Given the description of an element on the screen output the (x, y) to click on. 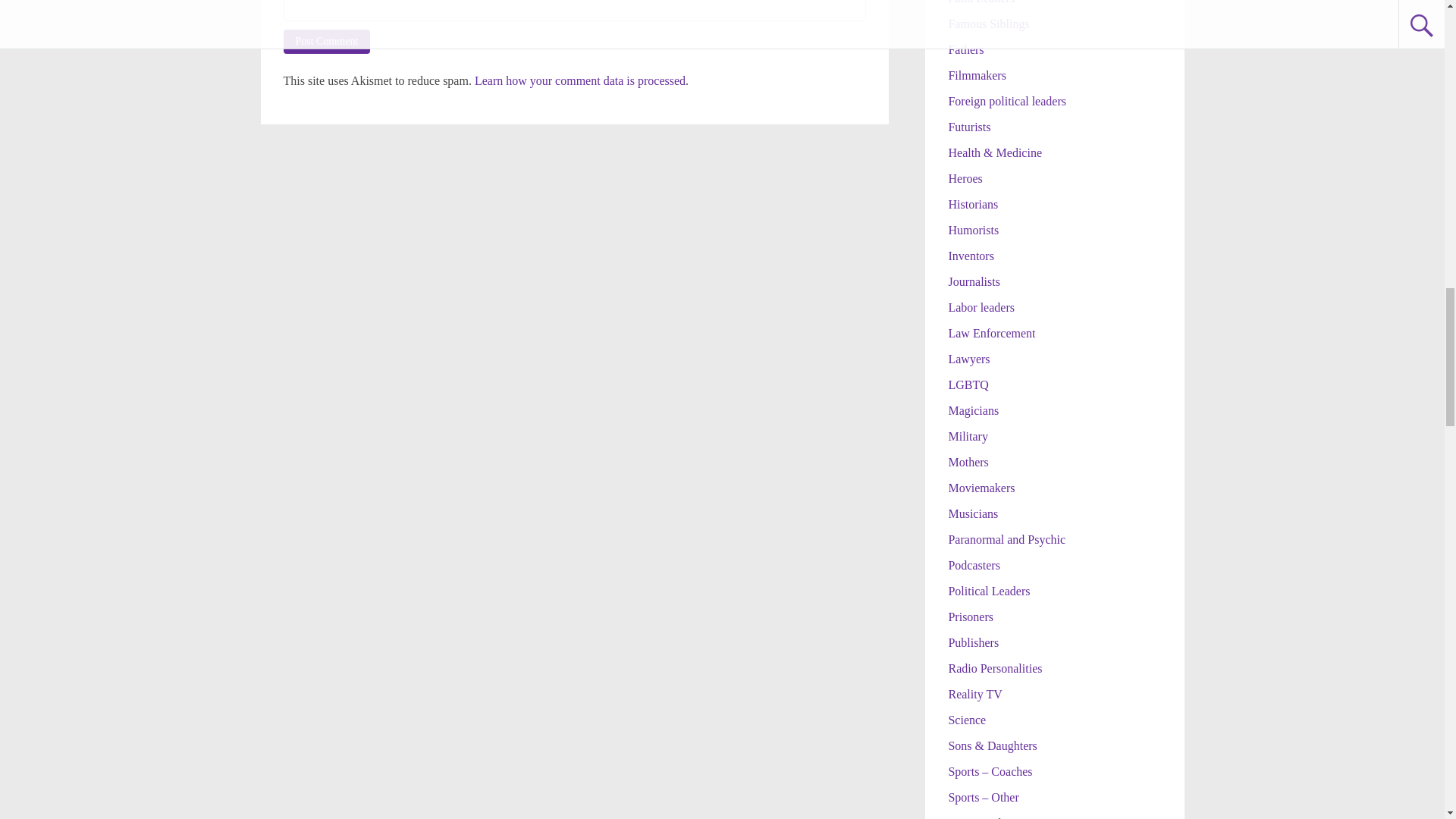
Learn how your comment data is processed (579, 80)
Post Comment (327, 41)
Post Comment (327, 41)
